Given the description of an element on the screen output the (x, y) to click on. 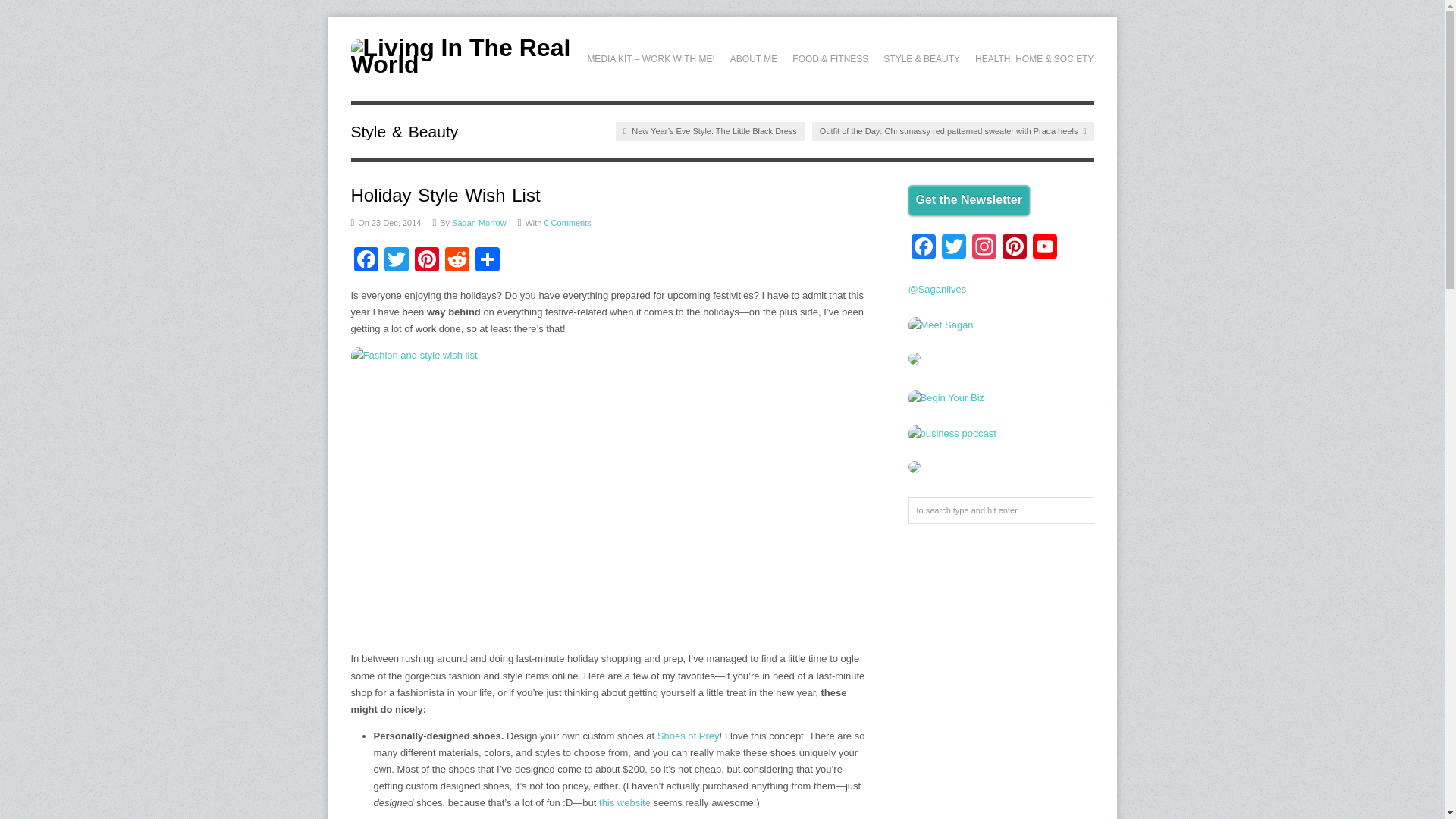
Reddit (456, 261)
Twitter (954, 248)
Instagram (983, 248)
YouTube (1044, 248)
Sagan Morrow (478, 222)
this website (624, 802)
Facebook (365, 261)
Pinterest (425, 261)
Reddit (456, 261)
Living In The Real World (461, 63)
